Given the description of an element on the screen output the (x, y) to click on. 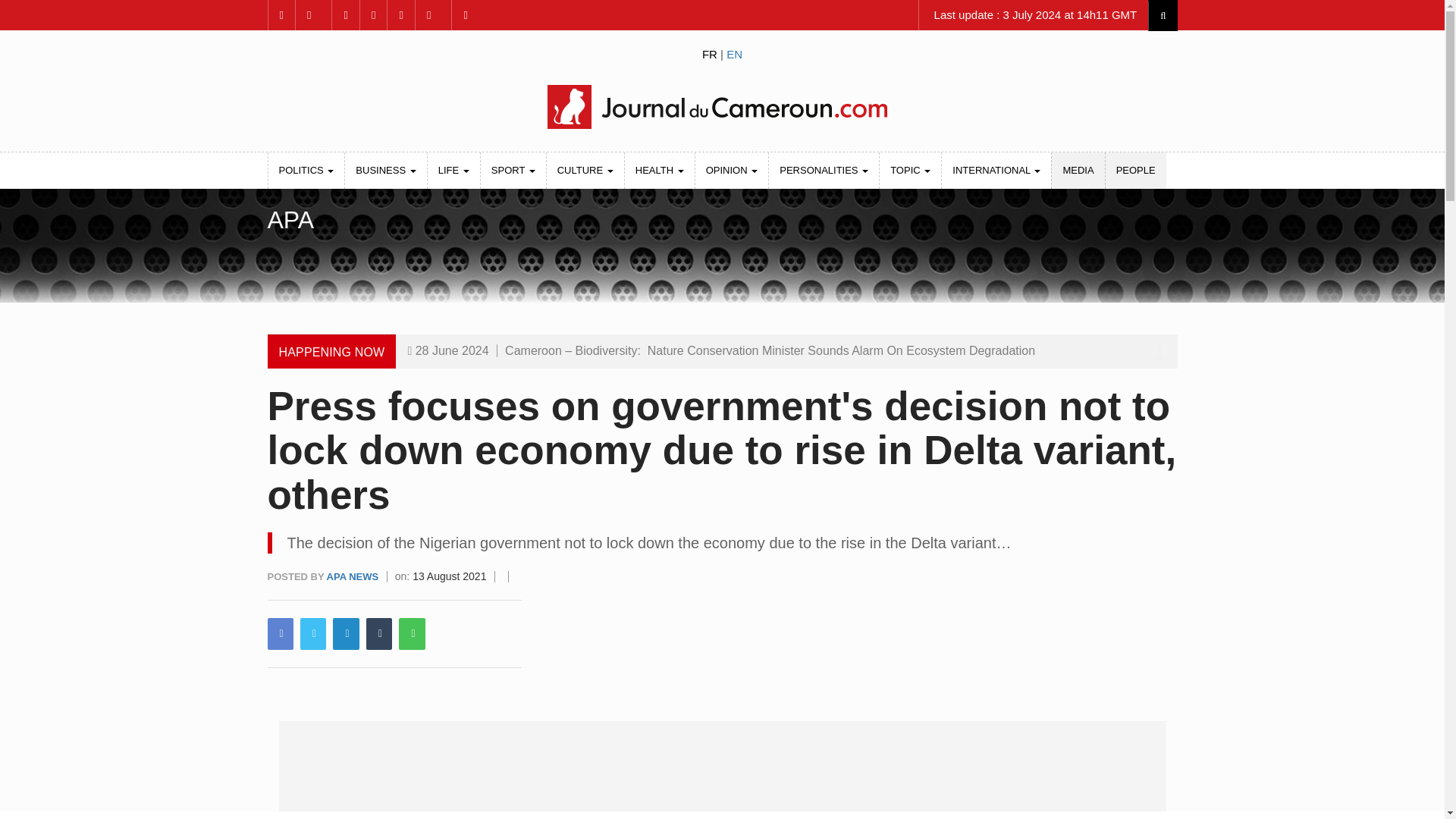
Last update : 3 July 2024 at 14h11 GMT (1033, 15)
POLITICS (306, 170)
EN (734, 53)
BUSINESS (385, 170)
FR (709, 53)
JDC (721, 106)
